Given the description of an element on the screen output the (x, y) to click on. 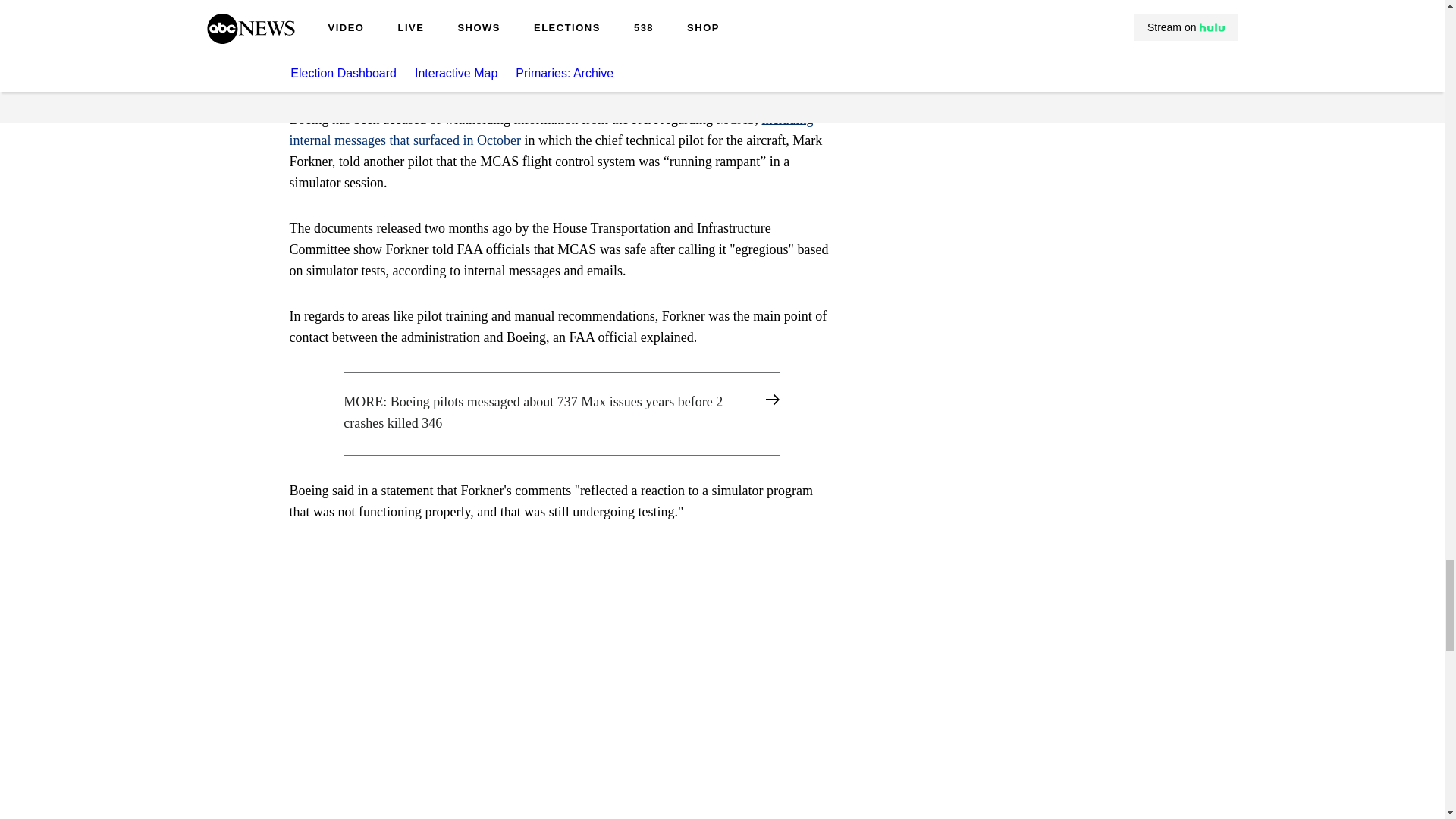
including internal messages that surfaced in October (551, 129)
